Given the description of an element on the screen output the (x, y) to click on. 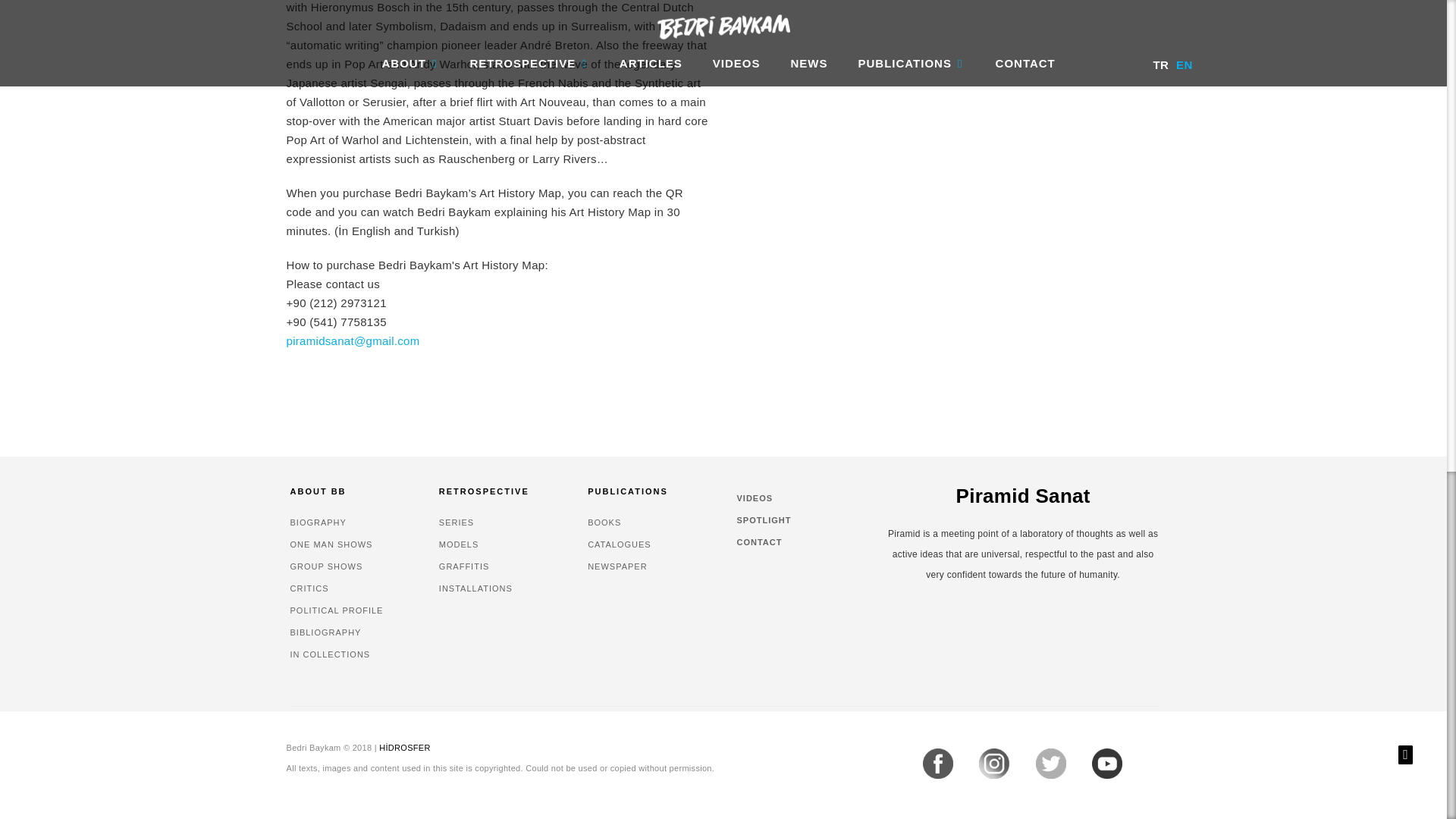
CRITICS (309, 587)
BIBLIOGRAPHY (325, 632)
GROUP SHOWS (325, 565)
POLITICAL PROFILE (335, 610)
BIOGRAPHY (317, 522)
ONE MAN SHOWS (330, 543)
IN COLLECTIONS (329, 654)
